Given the description of an element on the screen output the (x, y) to click on. 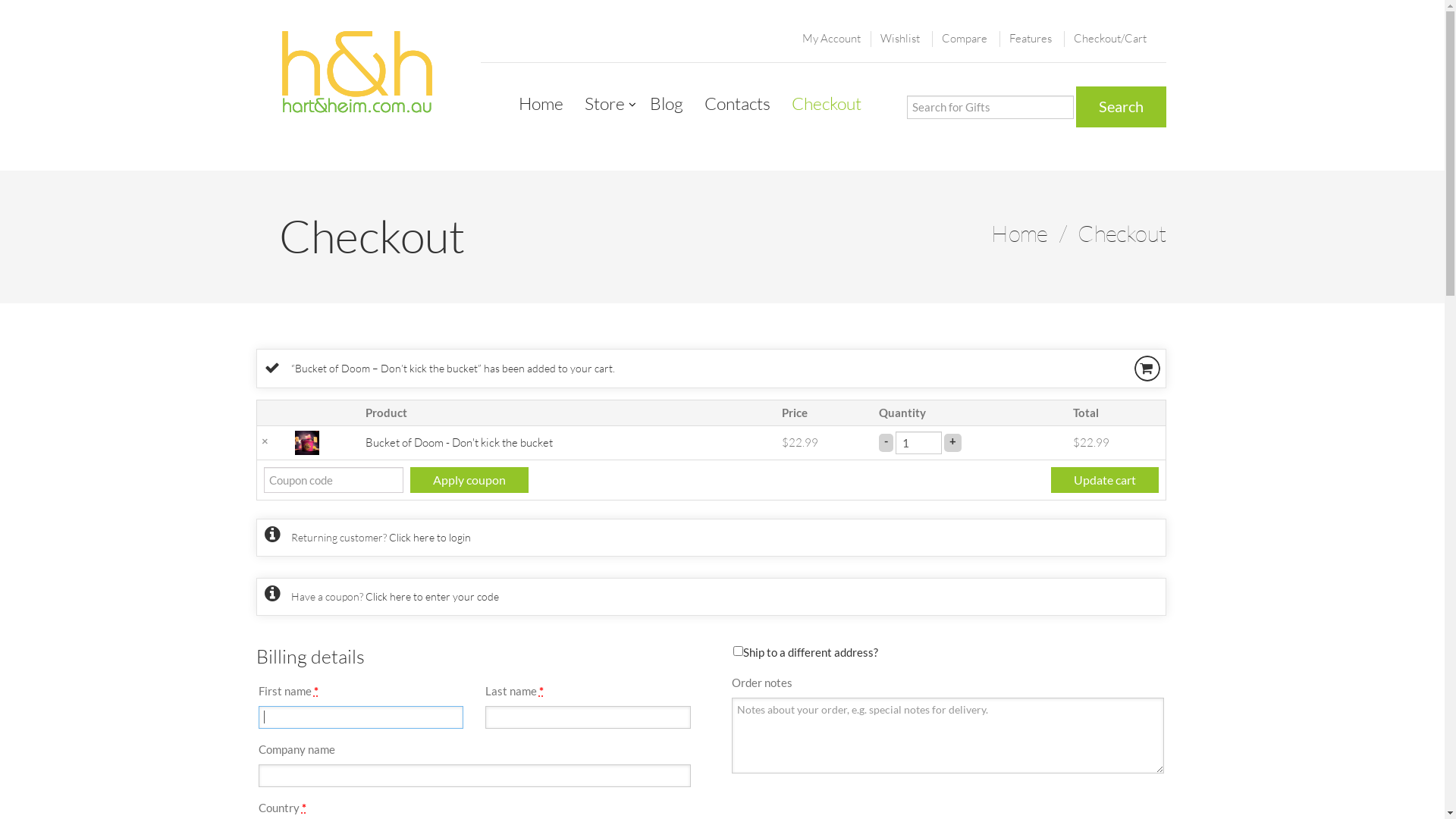
- Element type: text (886, 440)
Checkout/Cart Element type: text (1109, 38)
View cart Element type: text (1147, 367)
Home Element type: text (540, 103)
Cool gifts and gadgets Element type: hover (357, 72)
Search Element type: text (1120, 106)
Features Element type: text (1029, 38)
Qty Element type: hover (918, 441)
Blog Element type: text (665, 103)
Update cart Element type: text (1104, 479)
Apply coupon Element type: text (468, 479)
+ Element type: text (952, 440)
Compare Element type: text (964, 38)
My Account Element type: text (831, 38)
Click here to login Element type: text (429, 536)
Home Element type: text (1019, 233)
Bucket of Doom - Don't kick the bucket Element type: text (458, 442)
Contacts Element type: text (736, 103)
Wishlist Element type: text (899, 38)
Checkout Element type: text (826, 103)
Click here to enter your code Element type: text (431, 595)
